Given the description of an element on the screen output the (x, y) to click on. 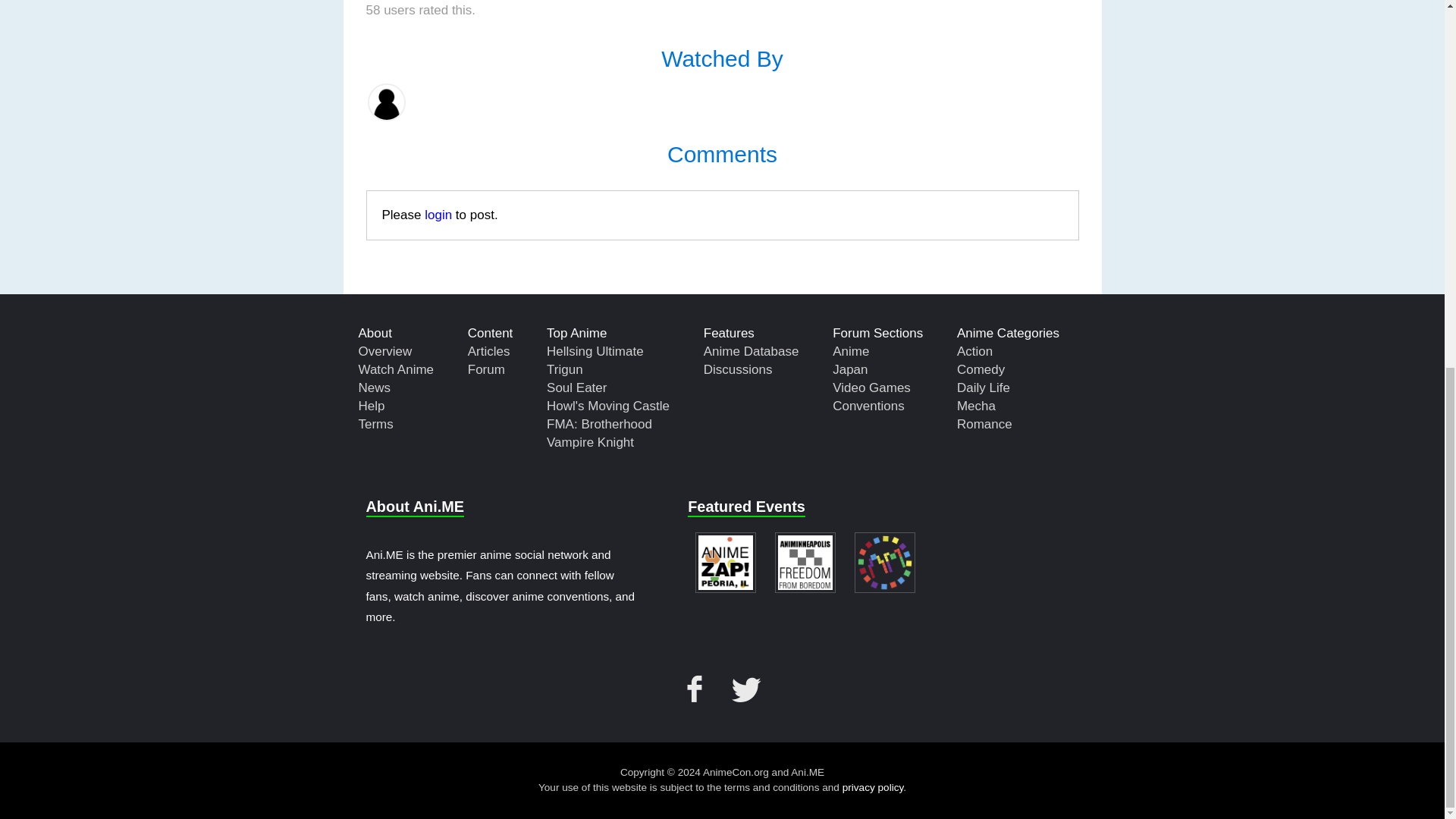
Join us on Twitter (746, 688)
Vampire Knight (590, 442)
Forum (486, 369)
Terms (375, 423)
FMA: Brotherhood (599, 423)
News (374, 387)
Watch Anime (395, 369)
Soul Eater (577, 387)
Articles (489, 351)
login (438, 214)
Trigun (565, 369)
Join us on Facebook (697, 688)
Overview (385, 351)
Anime Database (751, 351)
Howl's Moving Castle (608, 405)
